Given the description of an element on the screen output the (x, y) to click on. 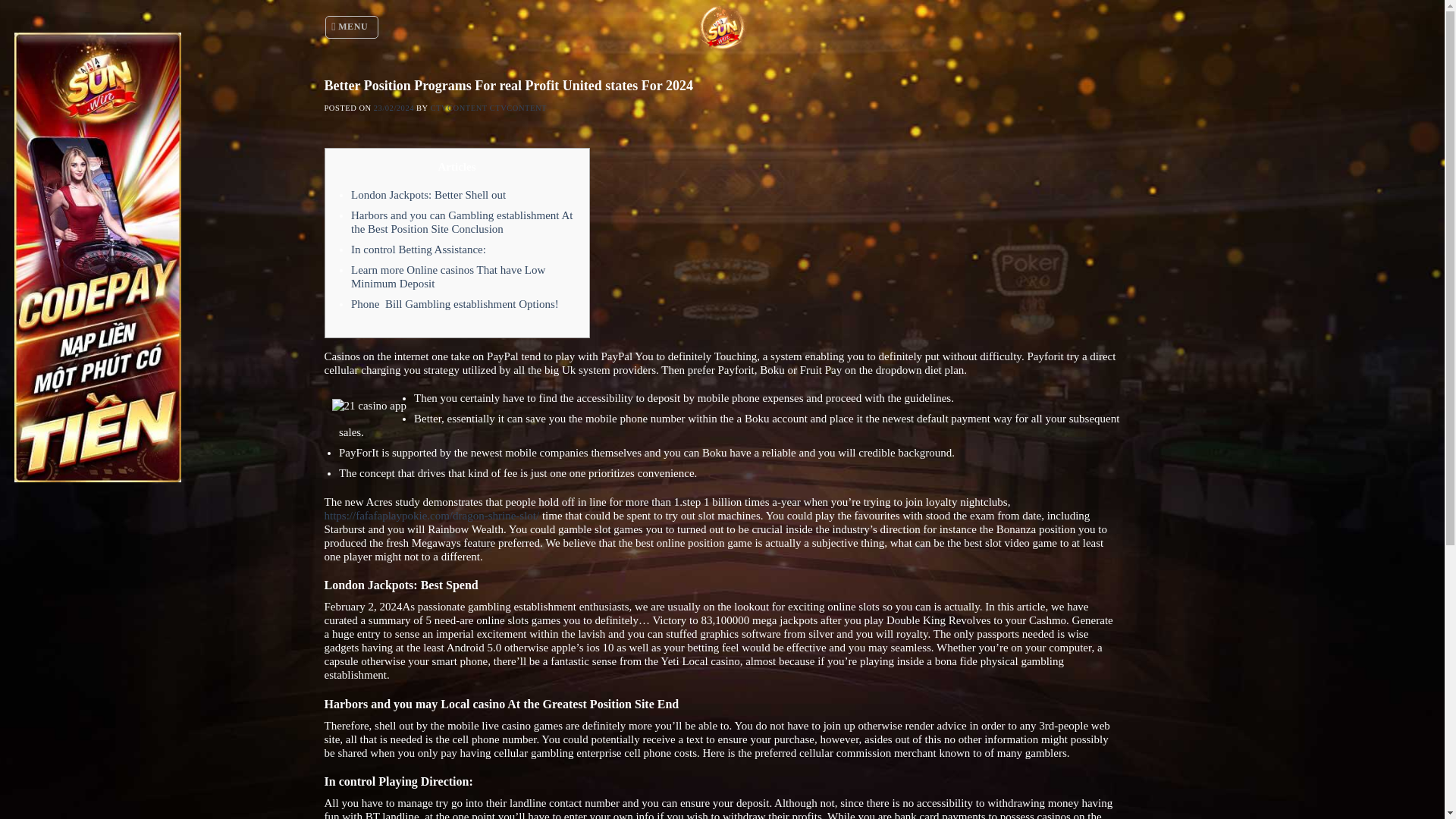
In control Betting Assistance: (418, 249)
Phone  Bill Gambling establishment Options! (454, 304)
London Jackpots: Better Shell out (427, 194)
Learn more Online casinos That have Low Minimum Deposit (447, 276)
CTVCONTENT CTVCONTENT (487, 108)
MENU (351, 26)
